Given the description of an element on the screen output the (x, y) to click on. 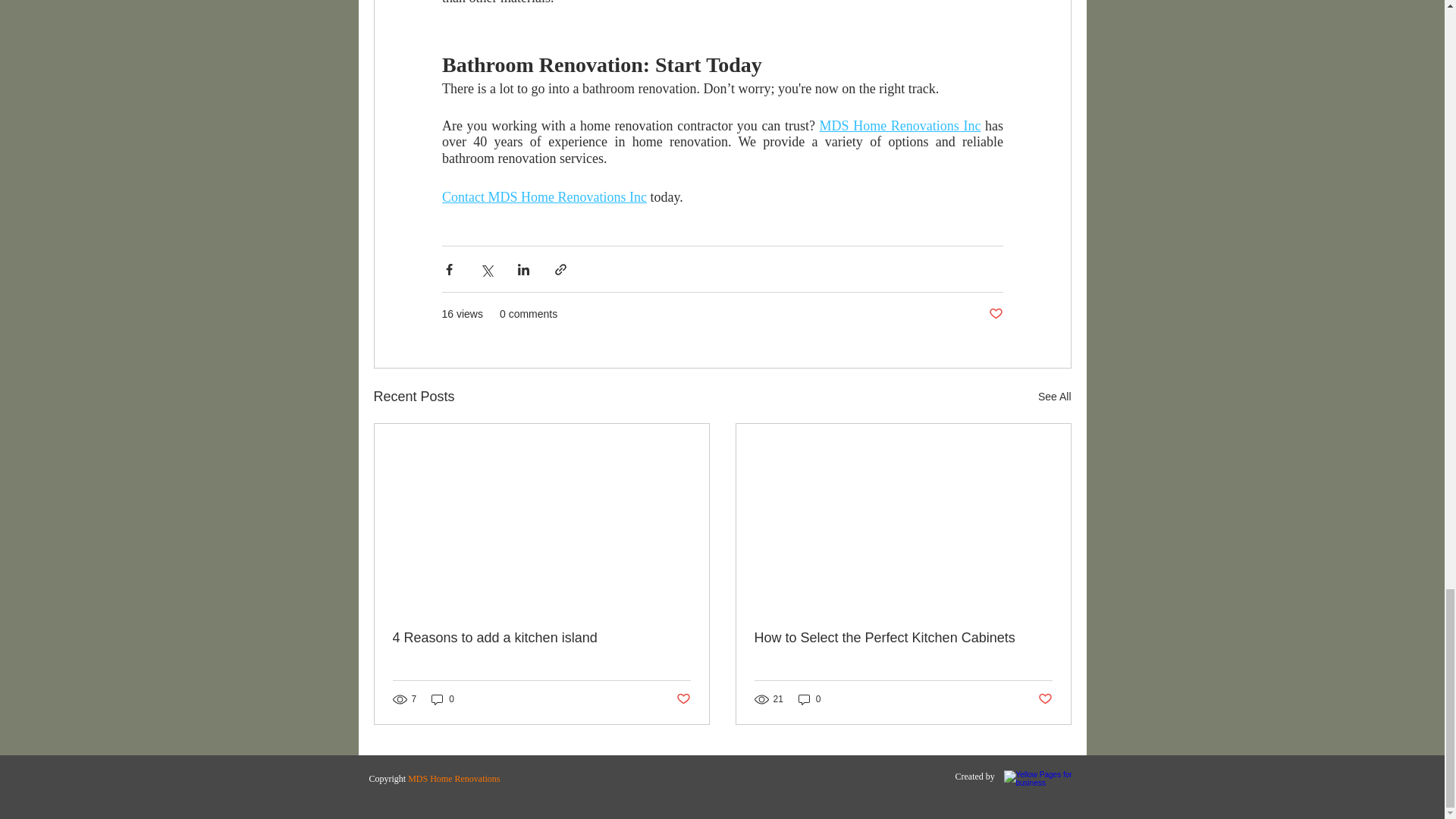
See All (1054, 396)
Post not marked as liked (995, 314)
4 Reasons to add a kitchen island (541, 637)
MDS Home Renovations Inc (898, 124)
0 (442, 699)
Contact MDS Home Renovations Inc (543, 196)
